Given the description of an element on the screen output the (x, y) to click on. 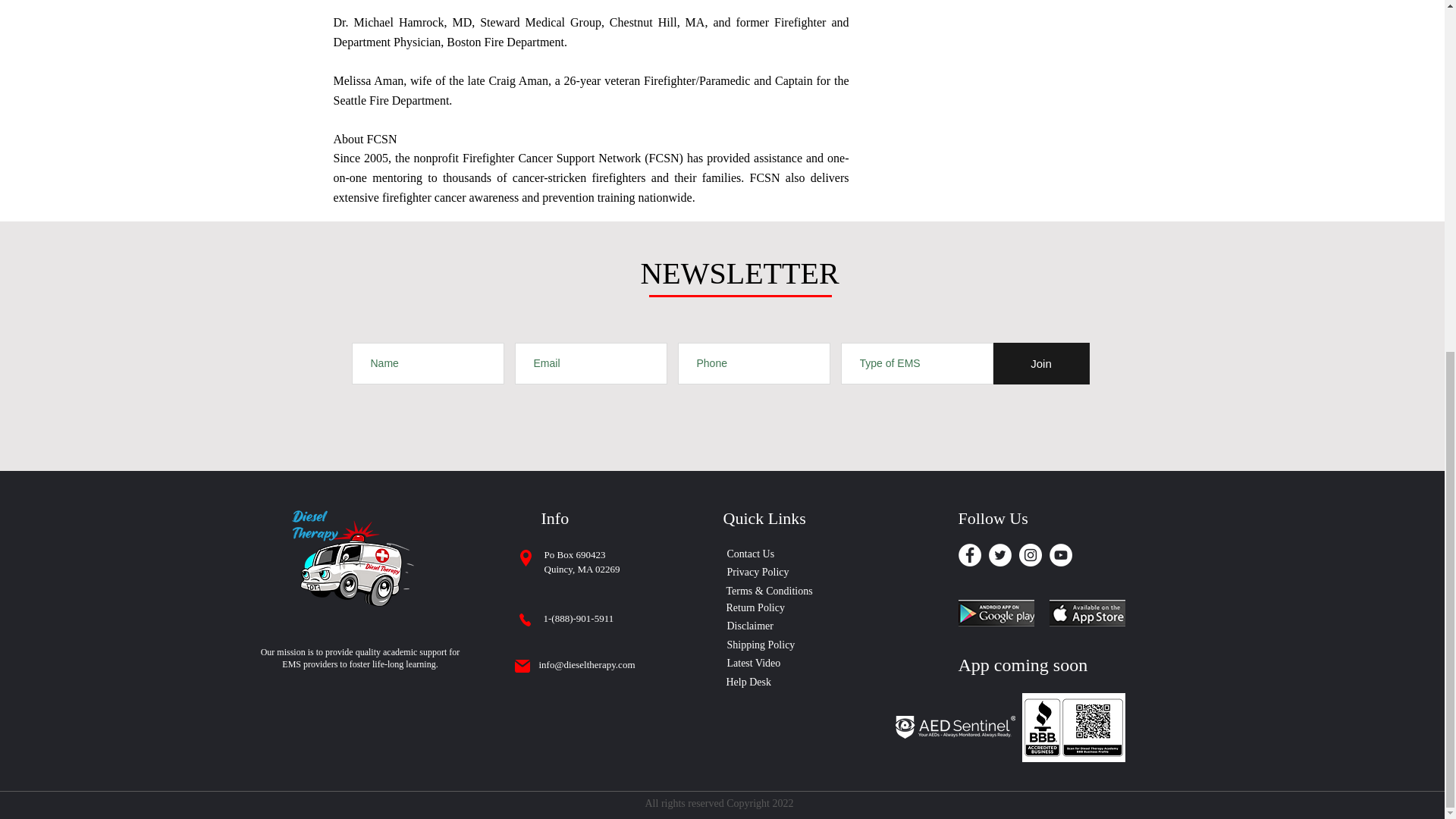
Latest Video (759, 662)
Disclaimer (754, 625)
Return Policy (774, 606)
Join (1040, 363)
Shipping Policy (766, 644)
Privacy Policy (774, 571)
Contact Us (774, 553)
Help Desk (752, 681)
